Given the description of an element on the screen output the (x, y) to click on. 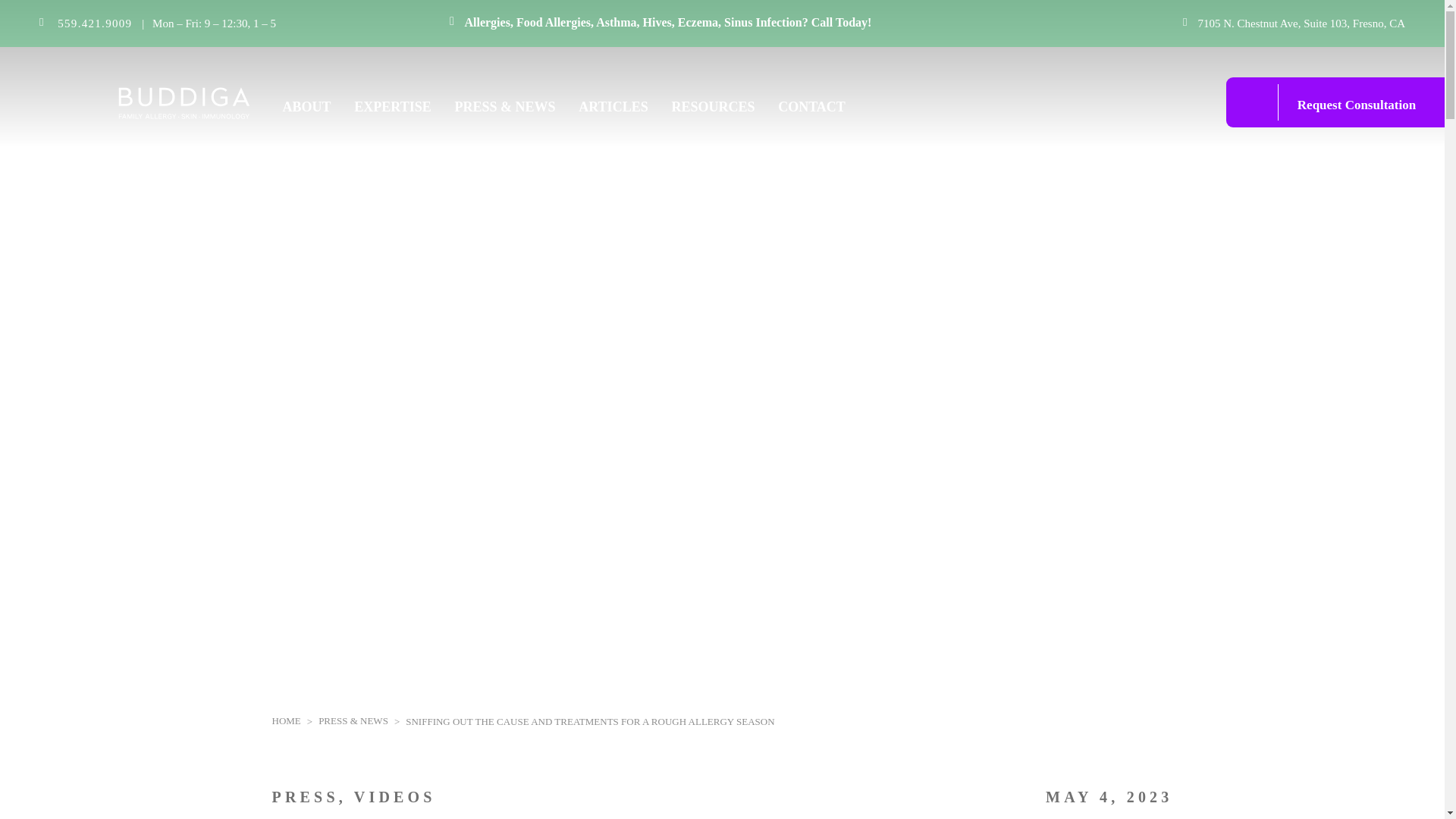
559.421.9009 (95, 23)
HOME (284, 720)
ARTICLES (612, 108)
Call Today! (841, 21)
ABOUT (306, 108)
RESOURCES (712, 108)
Buddiga (144, 99)
call us (95, 23)
CONTACT (811, 108)
7105 N. Chestnut Ave, Suite 103, Fresno, CA (1301, 23)
